Given the description of an element on the screen output the (x, y) to click on. 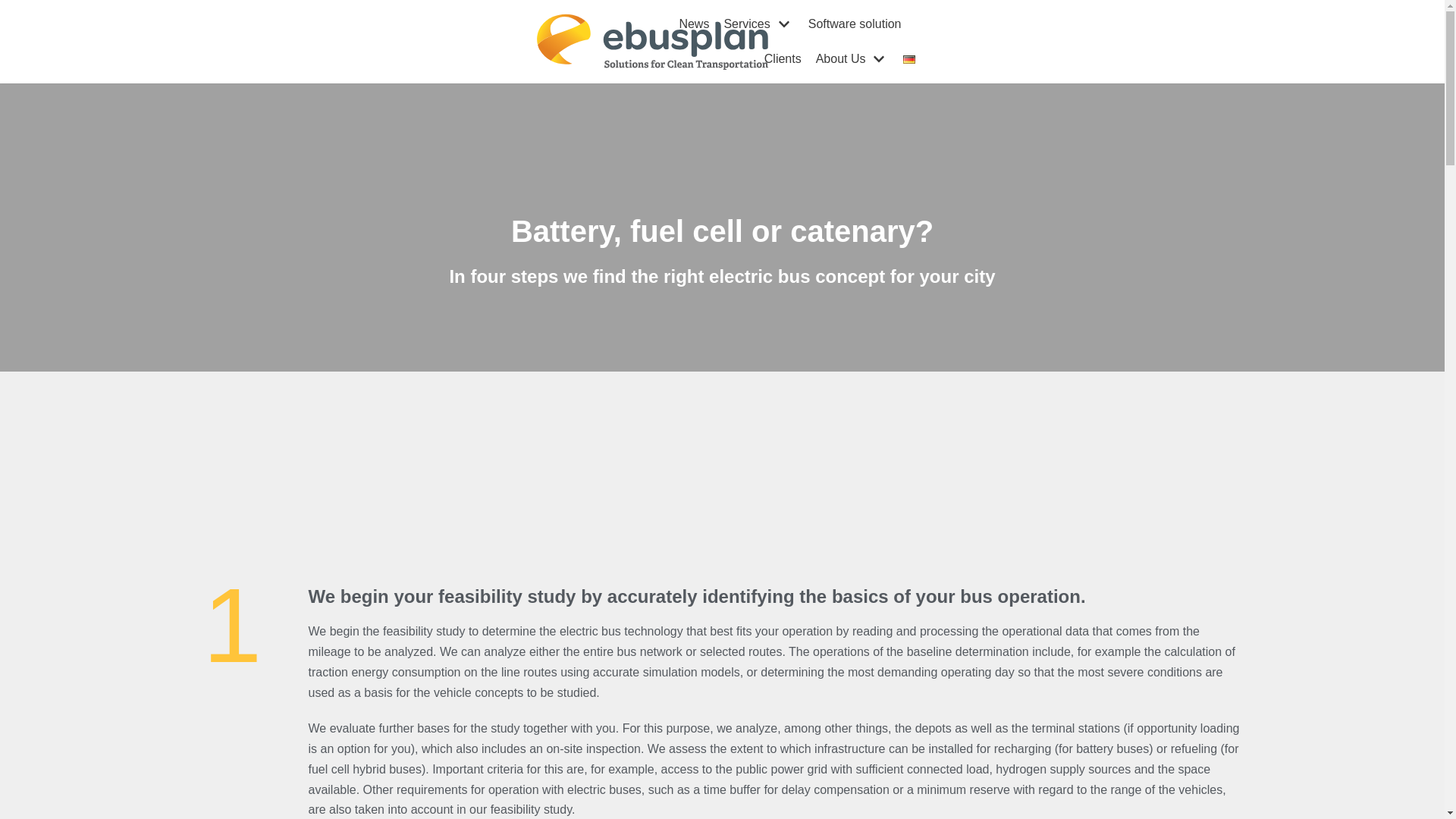
Software solution (854, 24)
Services (758, 24)
News (693, 24)
Clients (783, 58)
Skip to content (15, 31)
ebusplan (651, 41)
About Us (852, 58)
